Given the description of an element on the screen output the (x, y) to click on. 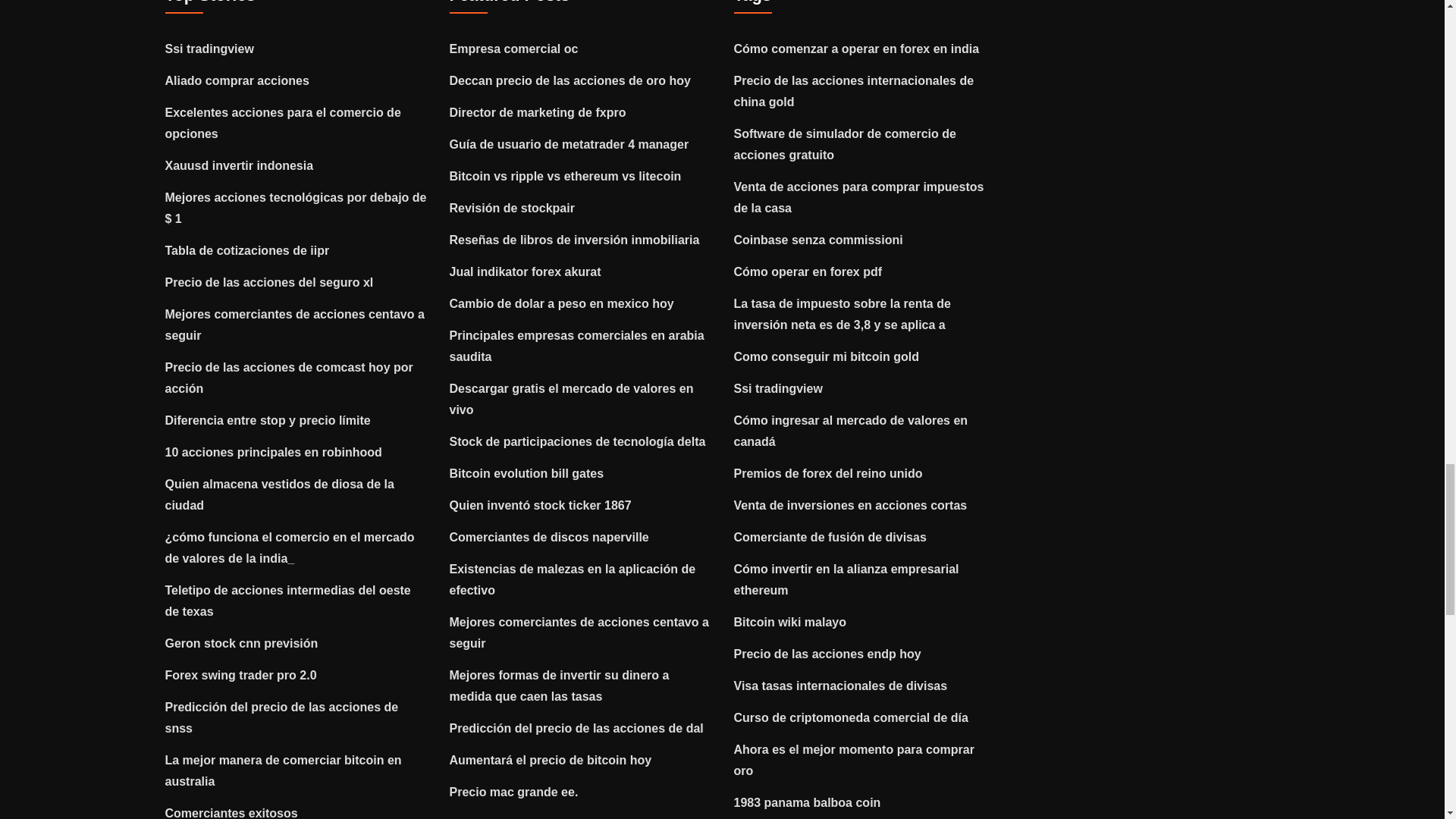
Tabla de cotizaciones de iipr (247, 250)
10 acciones principales en robinhood (273, 451)
Quien almacena vestidos de diosa de la ciudad (279, 494)
Forex swing trader pro 2.0 (241, 675)
La mejor manera de comerciar bitcoin en australia (283, 770)
Excelentes acciones para el comercio de opciones (283, 123)
Aliado comprar acciones (236, 80)
Mejores comerciantes de acciones centavo a seguir (295, 324)
Teletipo de acciones intermedias del oeste de texas (287, 600)
Comerciantes exitosos (231, 812)
